Given the description of an element on the screen output the (x, y) to click on. 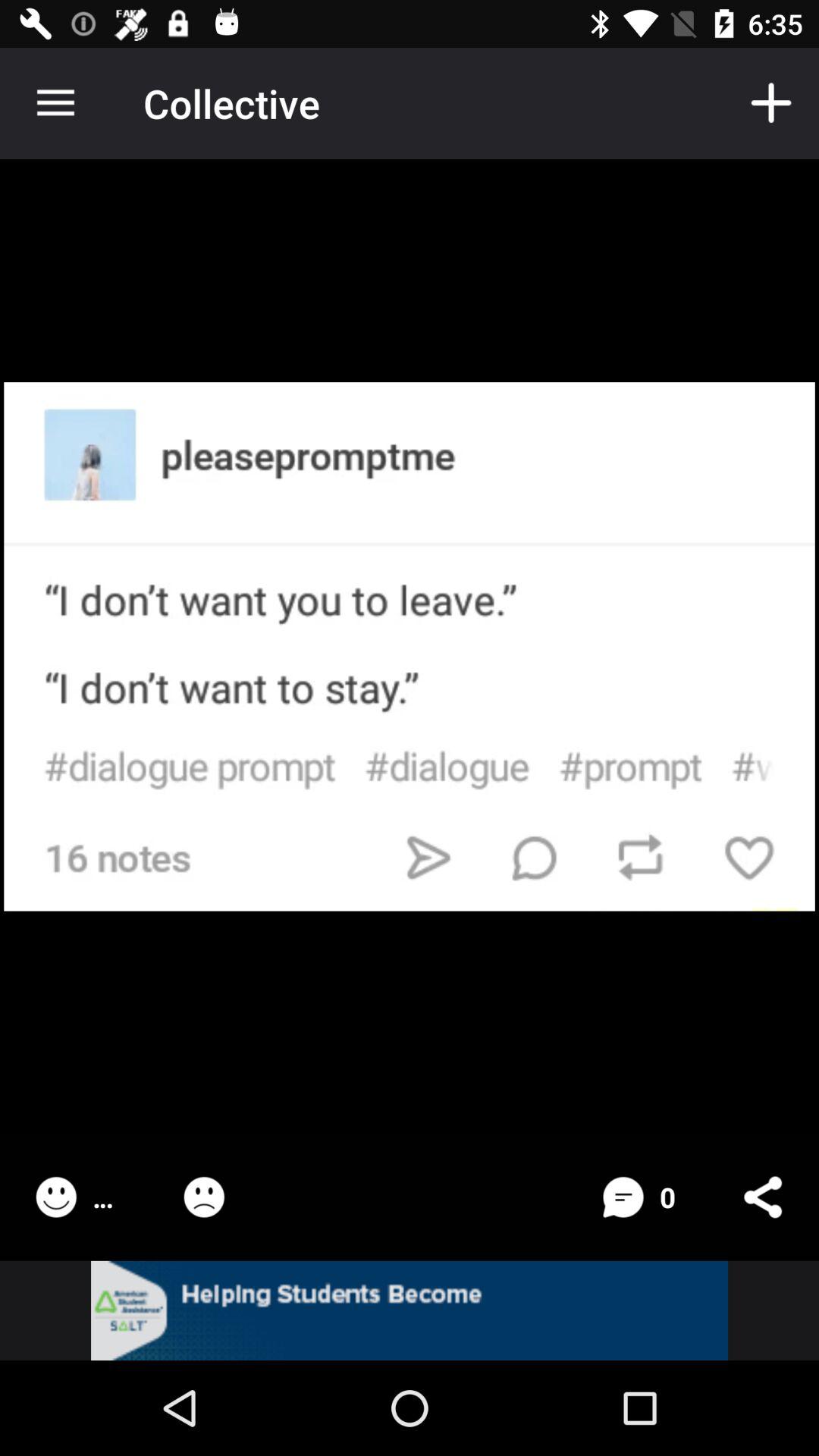
go to linked page (409, 1310)
